Given the description of an element on the screen output the (x, y) to click on. 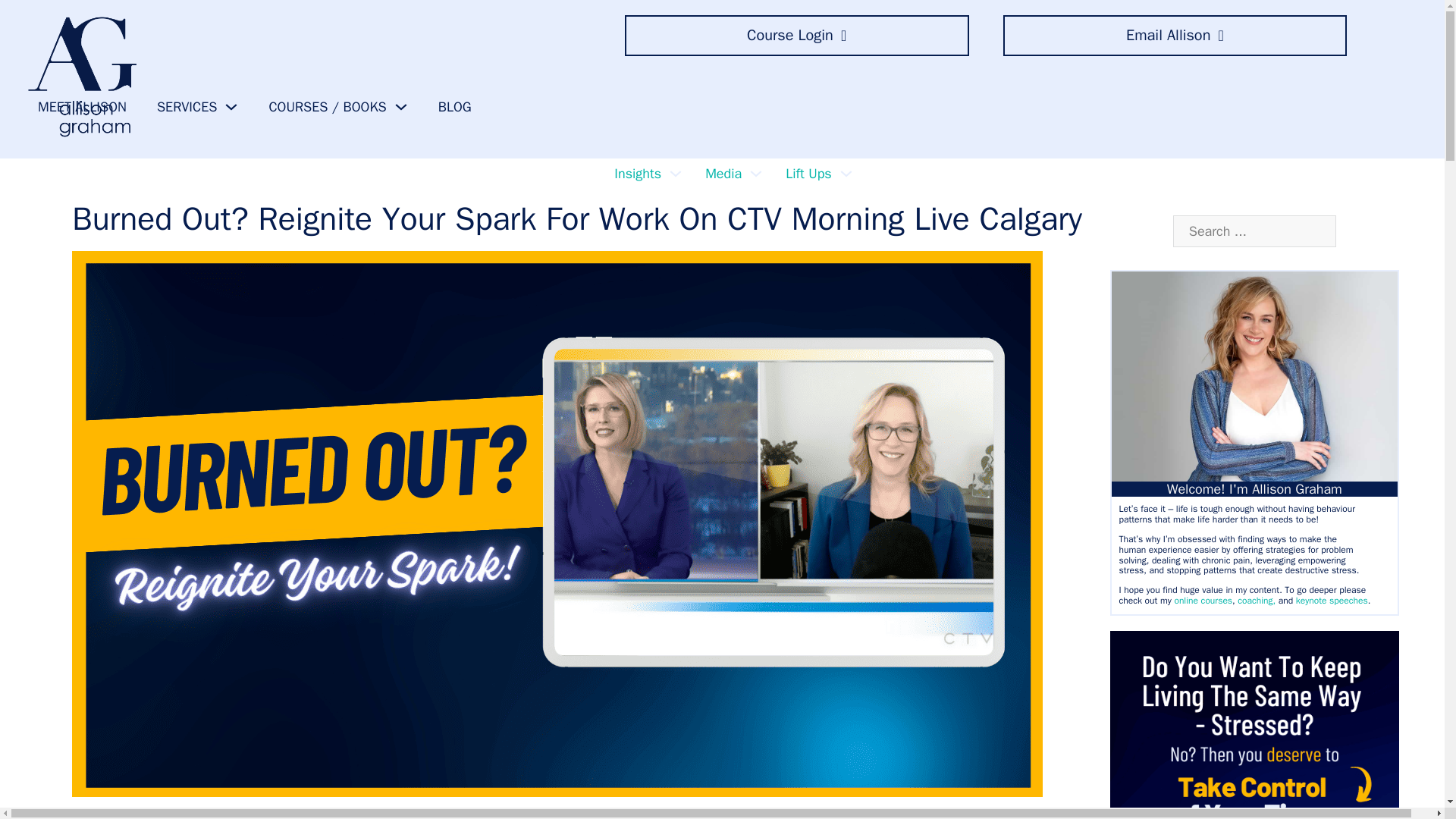
BLOG (454, 107)
Email Allison (1174, 35)
MEET ALLISON (81, 107)
Insights (637, 173)
Course Login (796, 35)
SERVICES (186, 107)
